Given the description of an element on the screen output the (x, y) to click on. 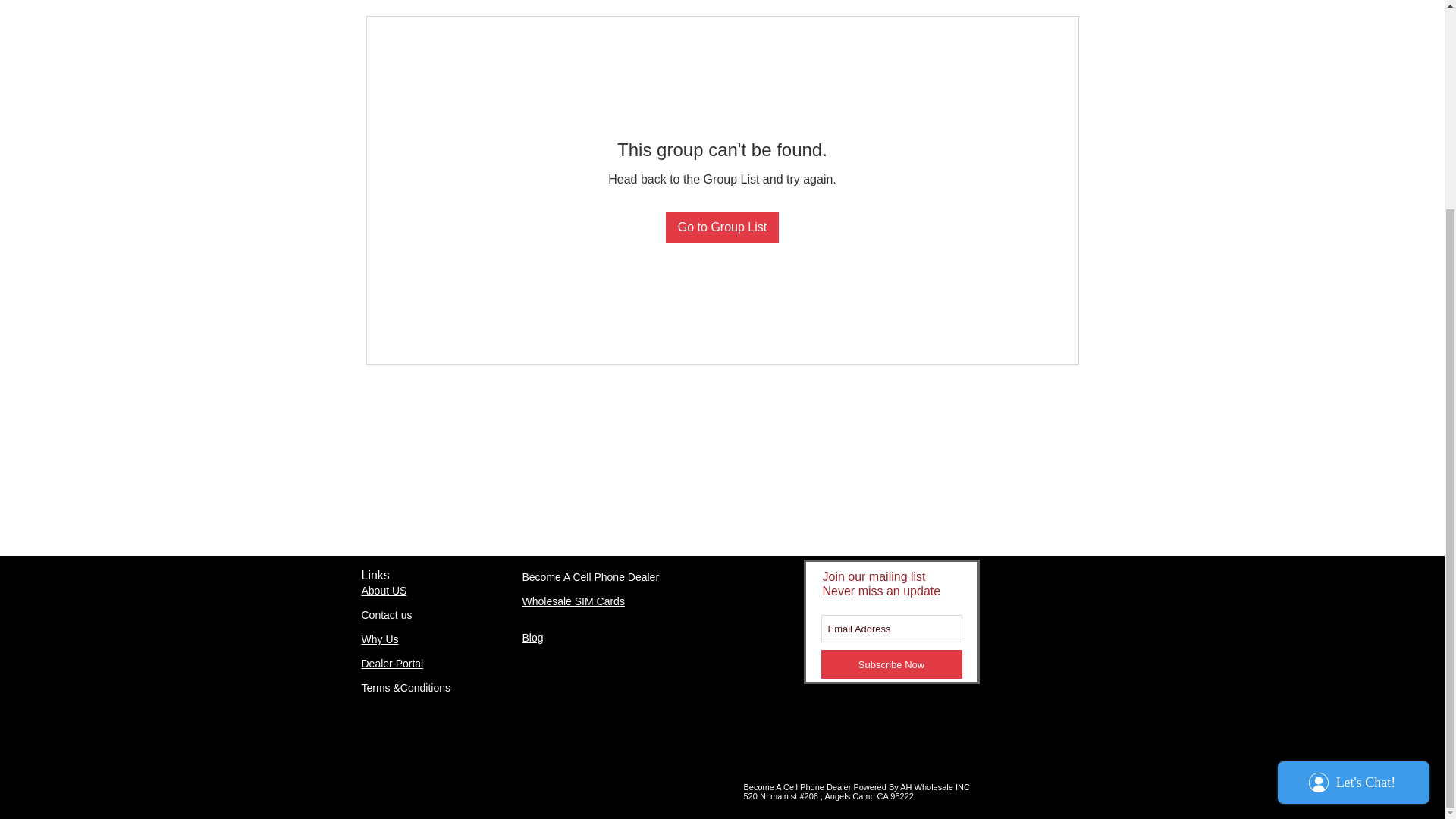
Become A Cell Phone Dealer (590, 576)
Subscribe Now (890, 664)
Blog (532, 637)
Dealer Portal (392, 663)
Go to Group List (721, 227)
About US (383, 590)
Wholesale SIM Cards (572, 601)
Contact us (386, 614)
Why Us (379, 639)
